Given the description of an element on the screen output the (x, y) to click on. 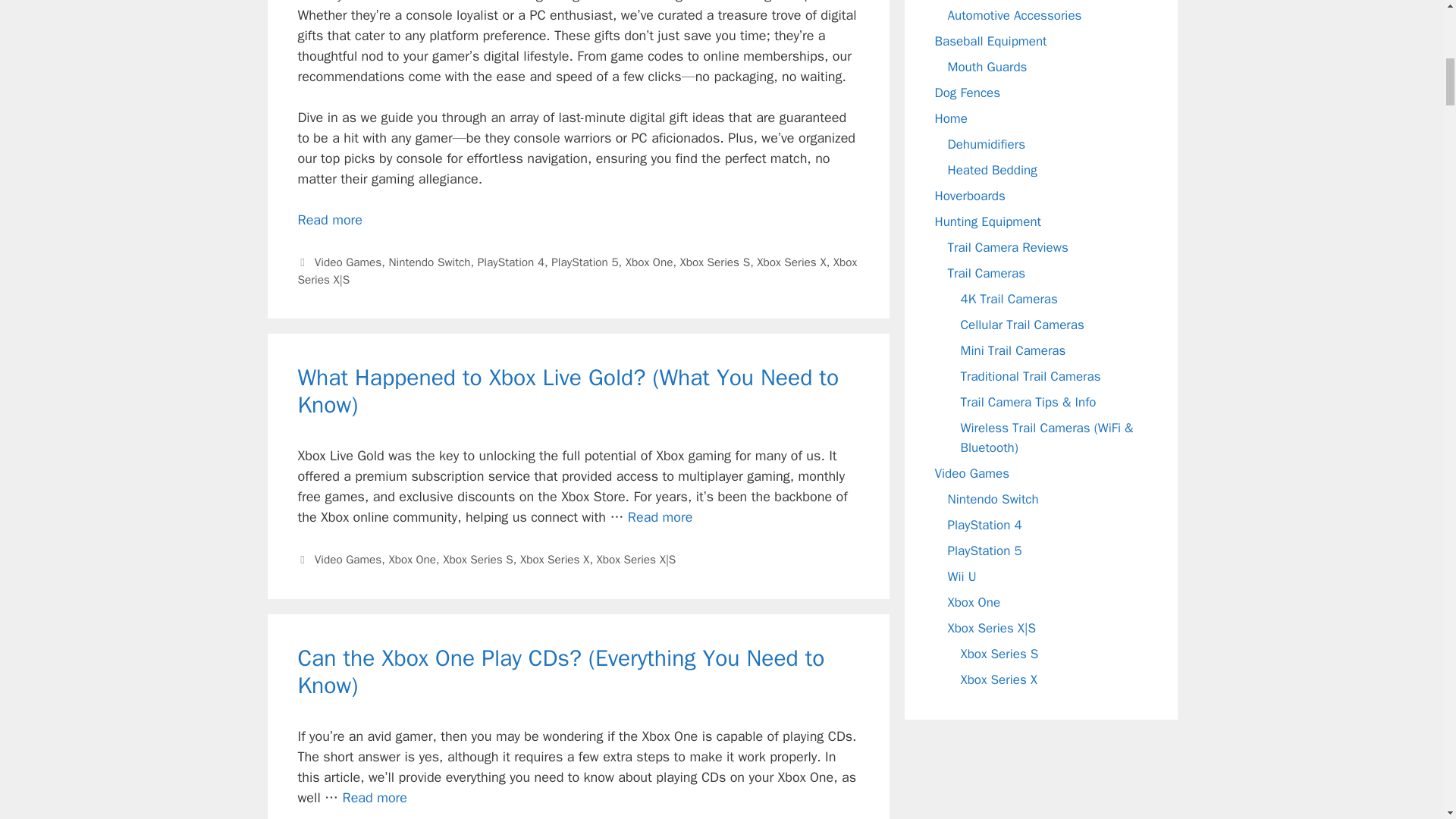
Best Last Minute Gifts for Gamers in 2024 (329, 219)
Video Games (347, 262)
PlayStation 4 (510, 262)
Read more (329, 219)
PlayStation 5 (584, 262)
Nintendo Switch (429, 262)
